Given the description of an element on the screen output the (x, y) to click on. 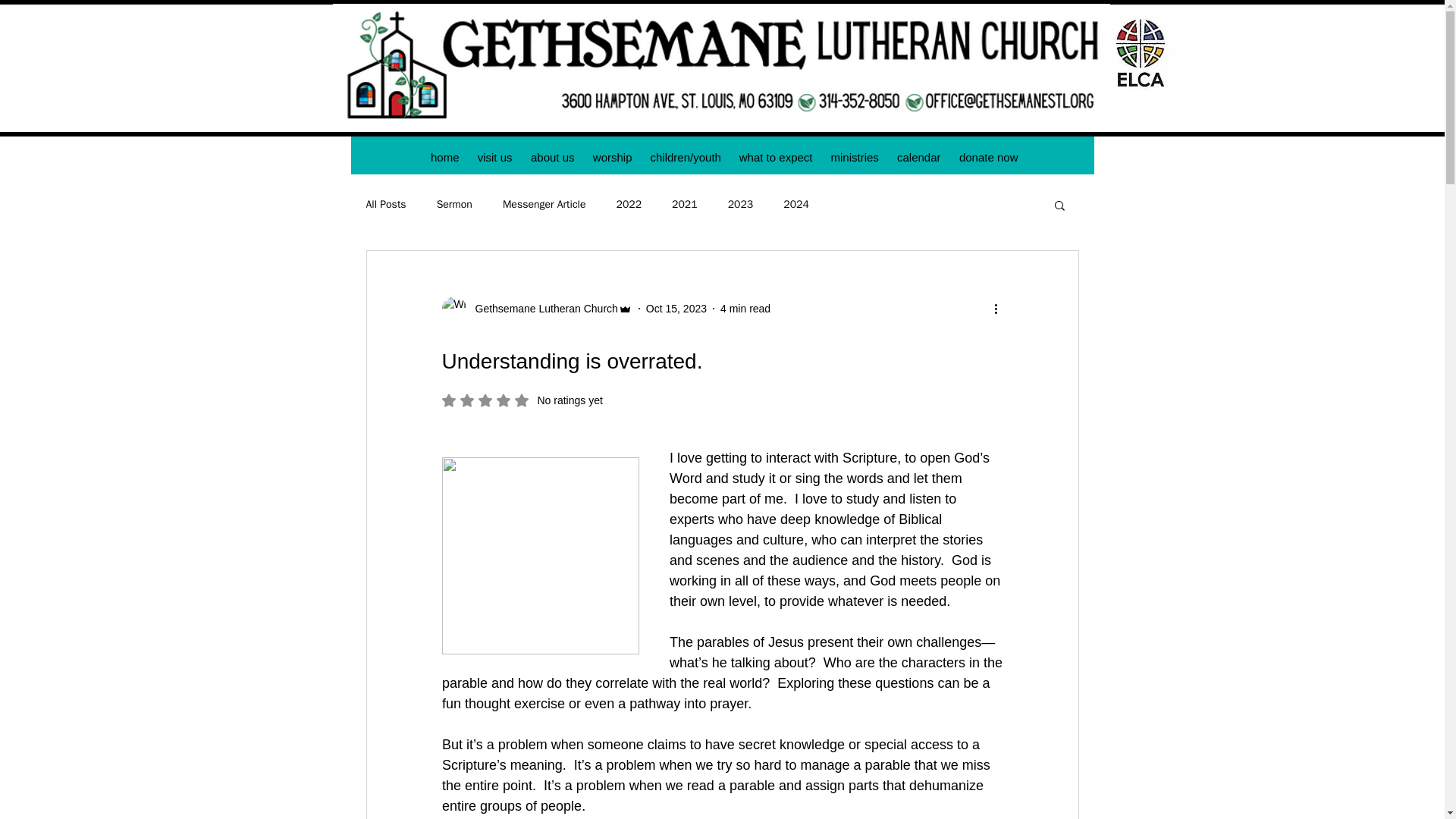
2023 (741, 204)
2022 (628, 204)
Messenger Article (544, 204)
2024 (796, 204)
home (445, 157)
calendar (917, 157)
what to expect (775, 157)
4 min read (745, 307)
Oct 15, 2023 (676, 307)
visit us (494, 157)
Gethsemane Lutheran Church (541, 308)
Sermon (453, 204)
about us (552, 157)
2021 (684, 204)
All Posts (385, 204)
